Given the description of an element on the screen output the (x, y) to click on. 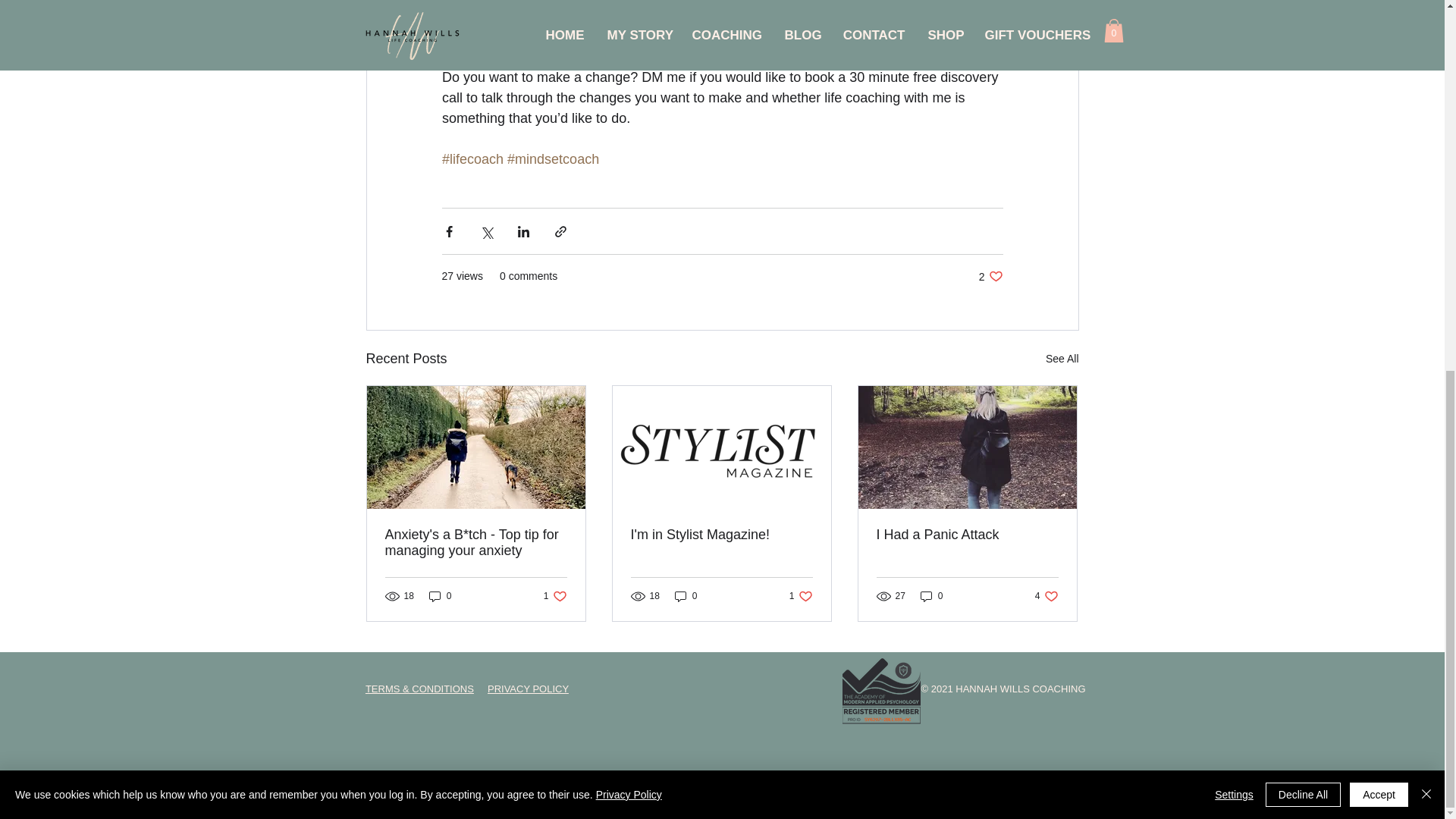
I'm in Stylist Magazine! (800, 595)
See All (721, 534)
0 (990, 276)
Trustpilot (1061, 359)
0 (440, 595)
